Given the description of an element on the screen output the (x, y) to click on. 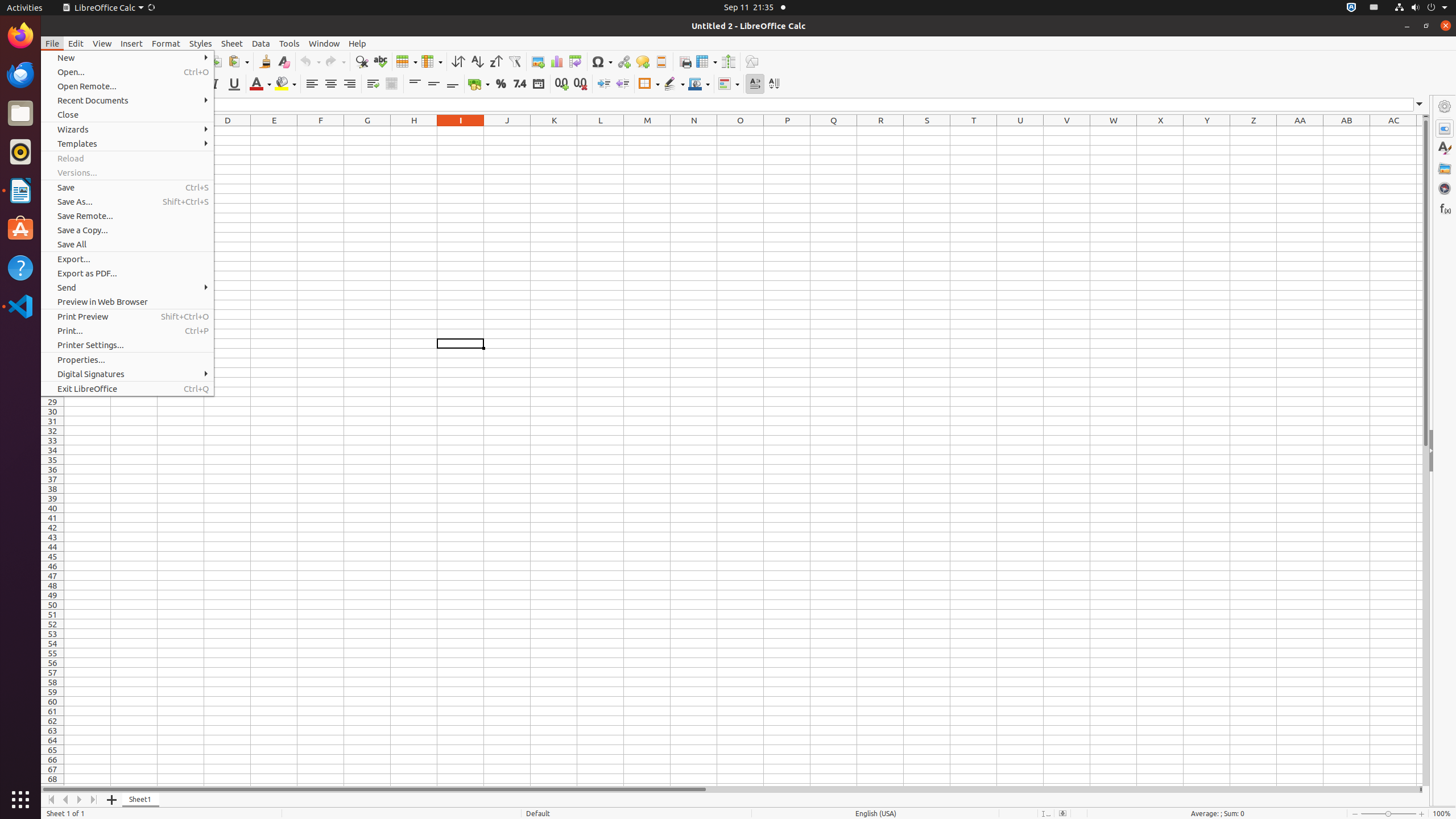
L1 Element type: table-cell (600, 130)
Properties Element type: panel (1444, 450)
Border Style Element type: push-button (673, 83)
P1 Element type: table-cell (786, 130)
E1 Element type: table-cell (273, 130)
